Given the description of an element on the screen output the (x, y) to click on. 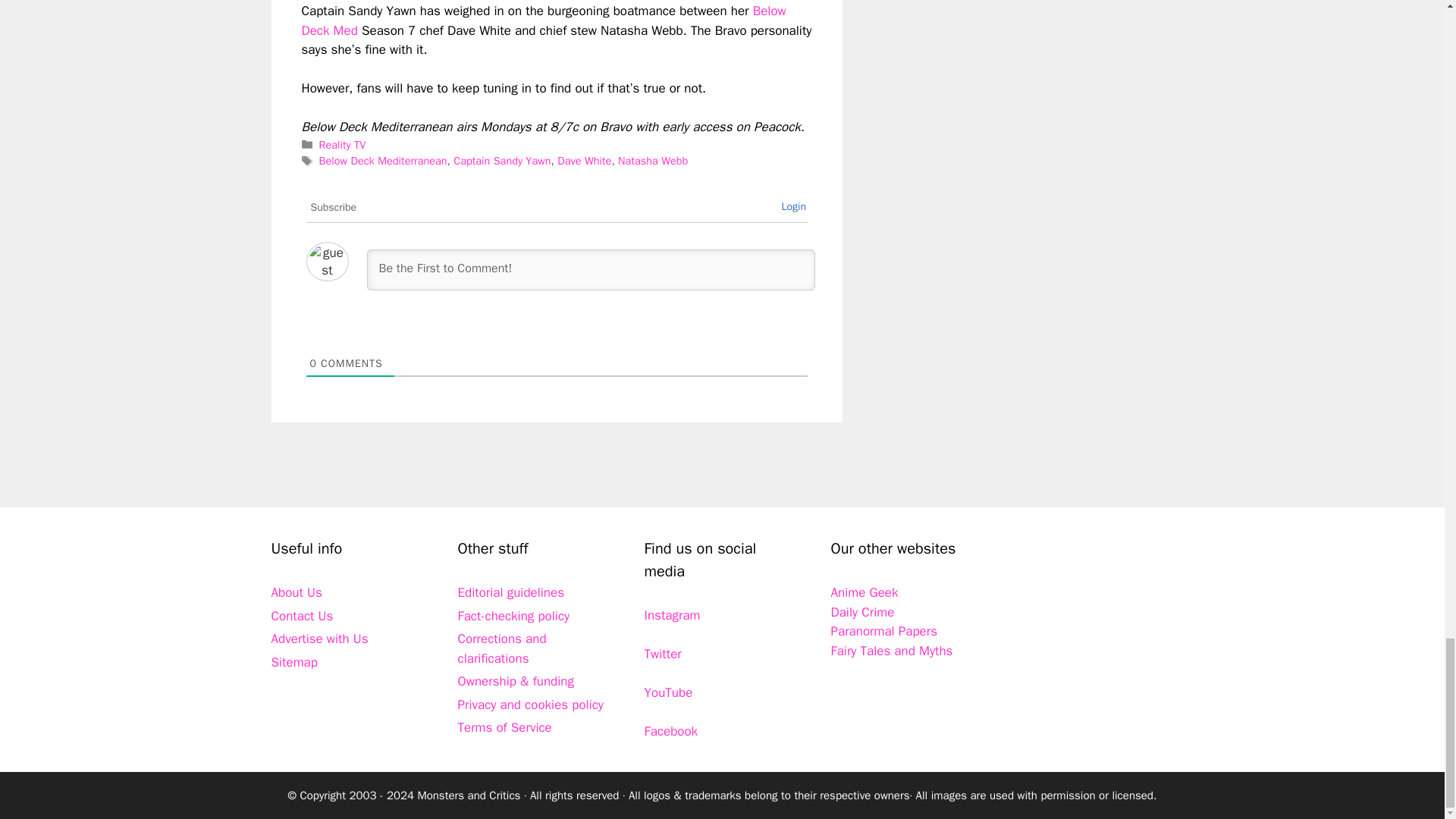
Sitemap (293, 662)
Reality TV (342, 144)
Below Deck Mediterranean (382, 160)
Editorial guidelines (511, 592)
About Us (295, 592)
Below Deck Med (543, 20)
Corrections and clarifications (502, 648)
Natasha Webb (652, 160)
Login (793, 205)
Fact-checking policy (514, 616)
